Given the description of an element on the screen output the (x, y) to click on. 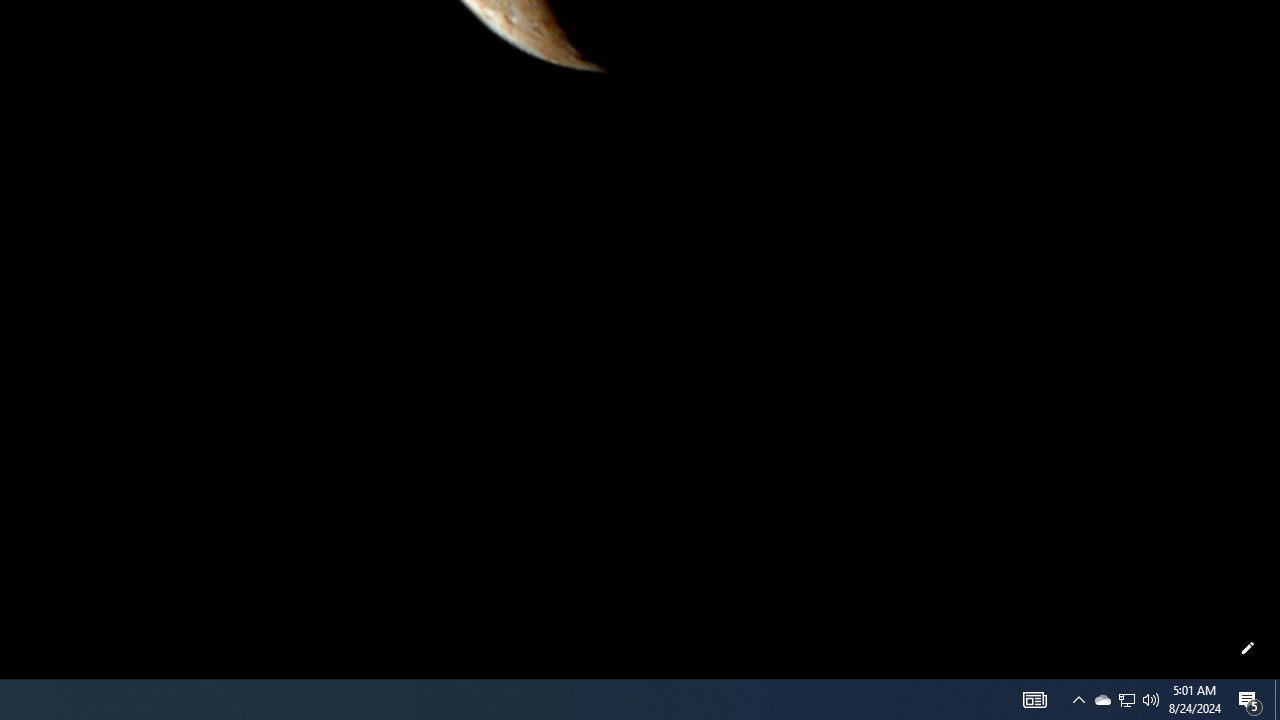
Customize this page (1247, 647)
